Given the description of an element on the screen output the (x, y) to click on. 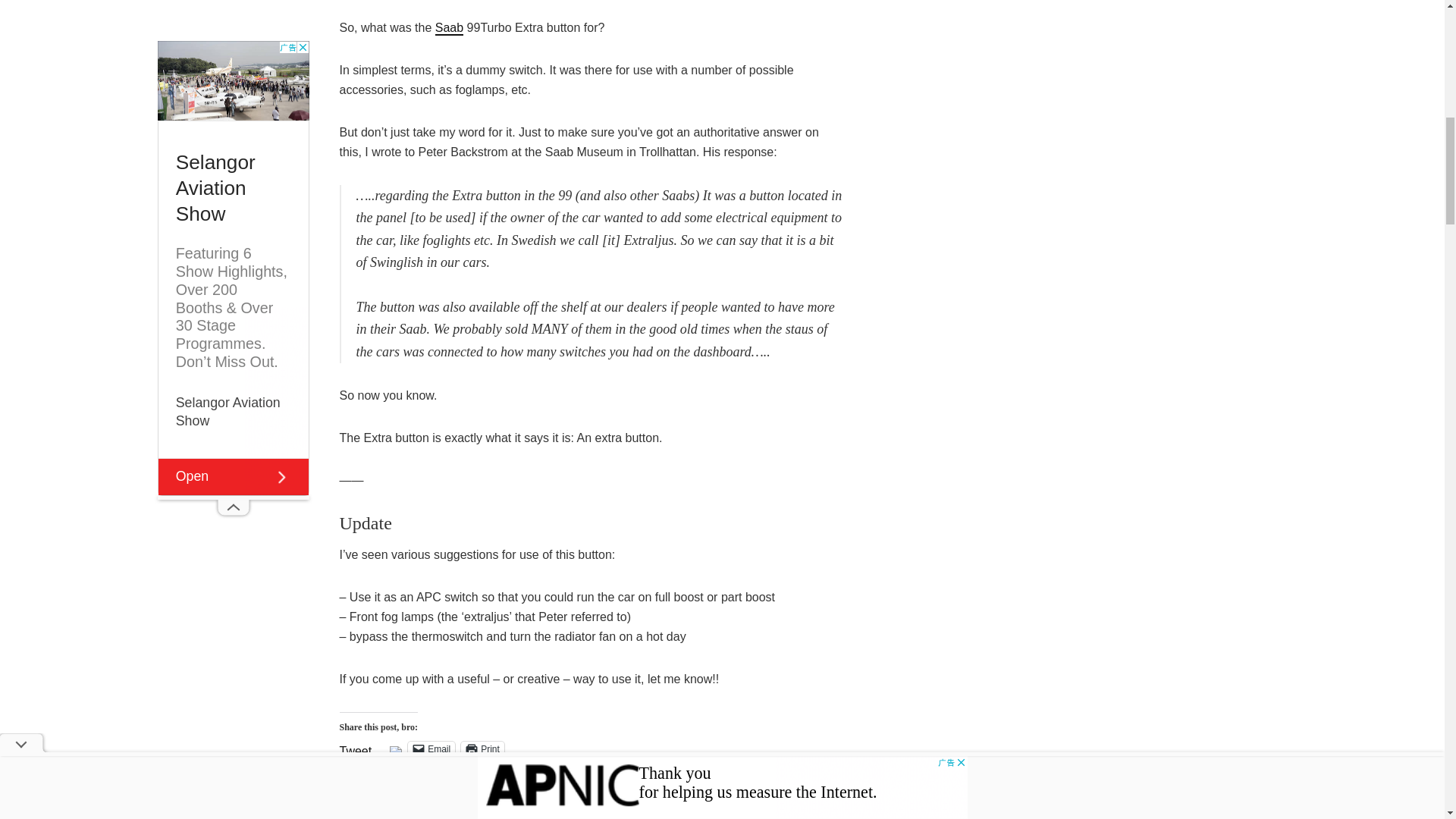
Email (430, 749)
Print (482, 749)
Saab (449, 28)
Click to email a link to a friend (430, 749)
Tweet (355, 748)
Click to print (482, 749)
